Given the description of an element on the screen output the (x, y) to click on. 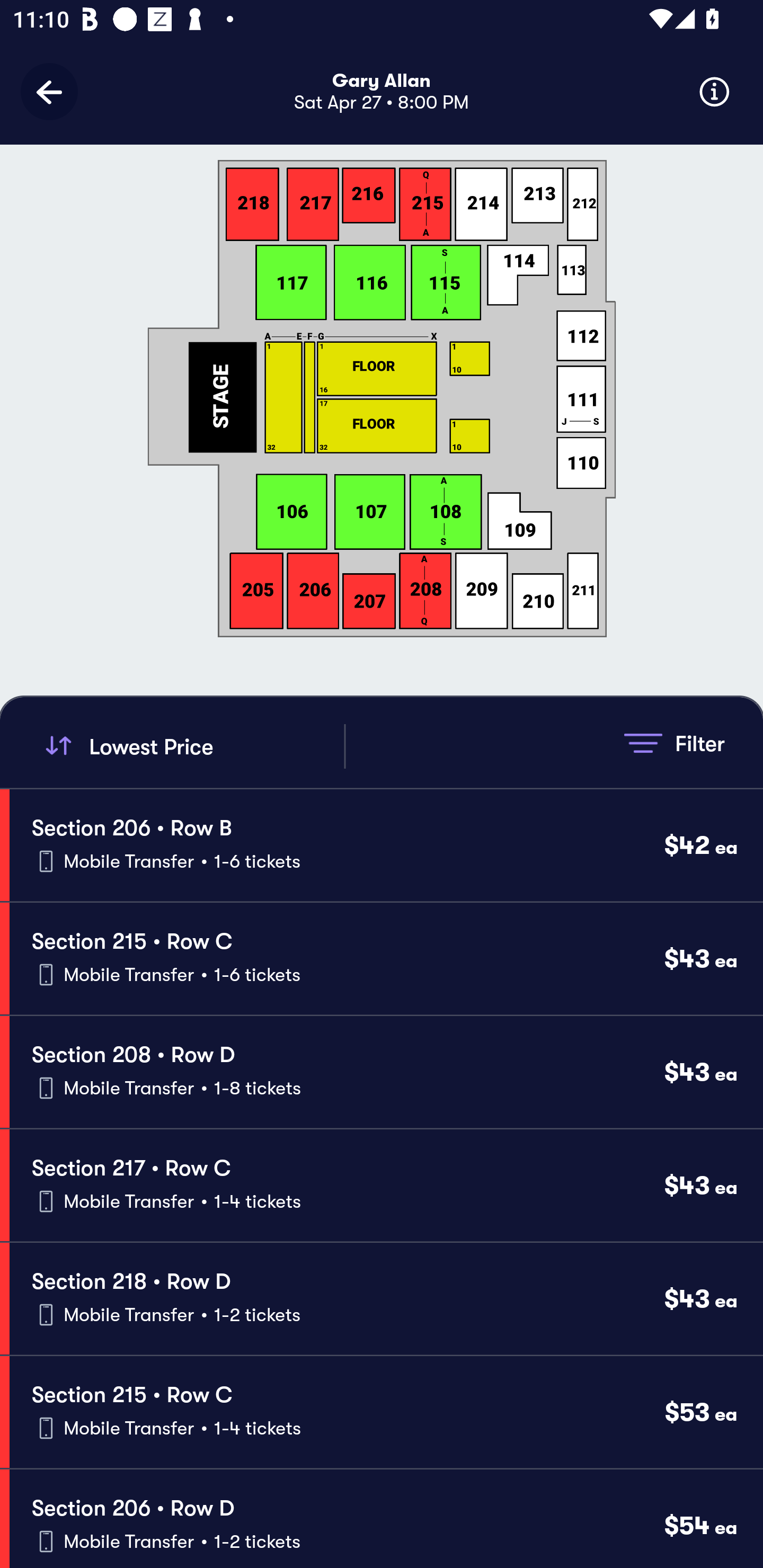
Lowest Price (191, 746)
Filter (674, 743)
